Given the description of an element on the screen output the (x, y) to click on. 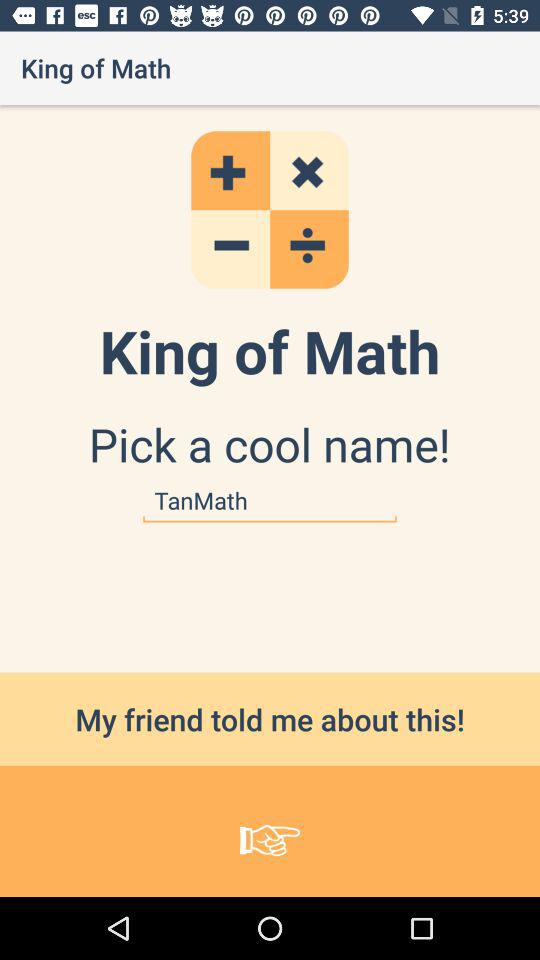
jump to the tanmath icon (269, 500)
